Given the description of an element on the screen output the (x, y) to click on. 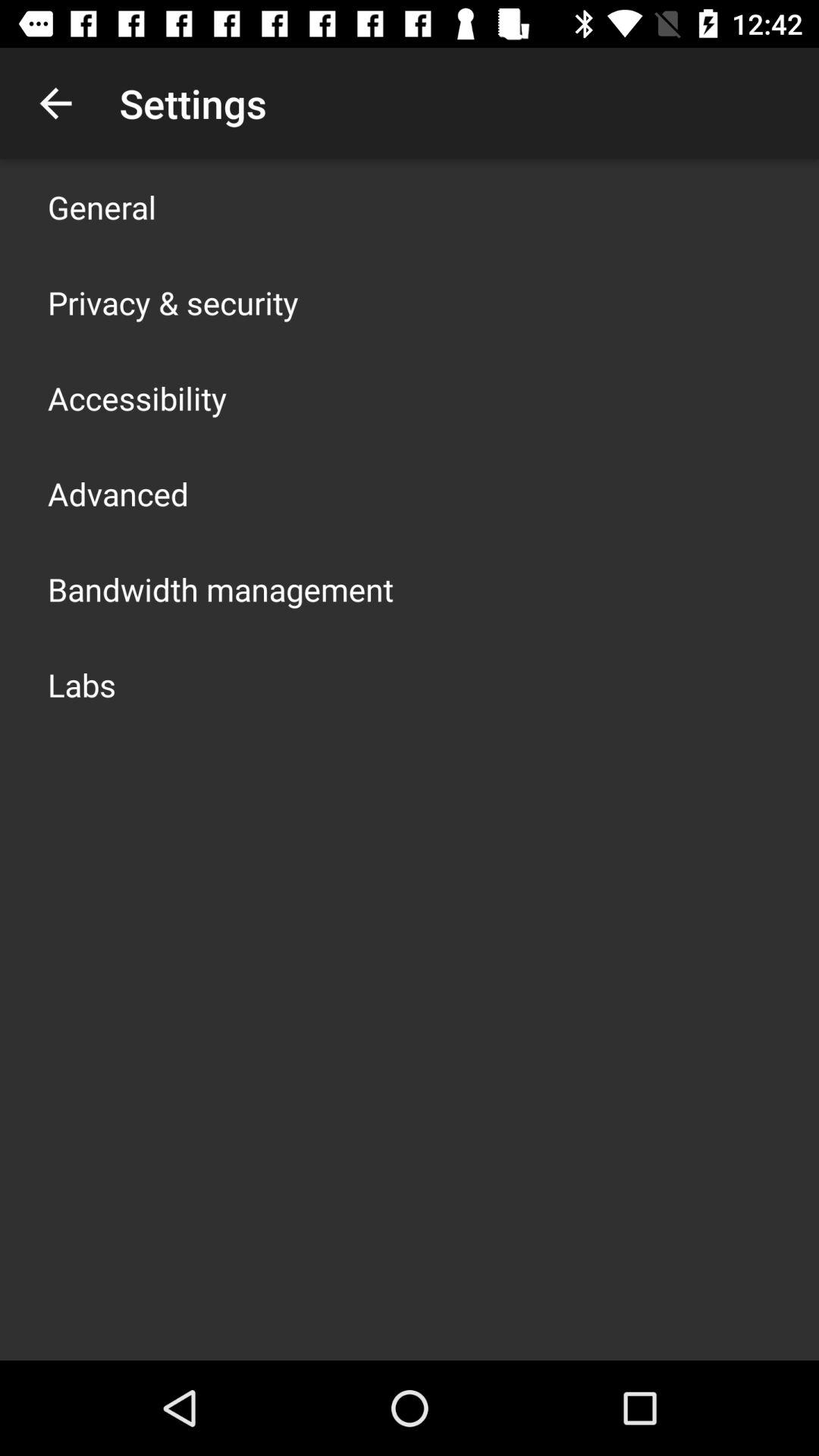
flip until accessibility item (136, 397)
